Given the description of an element on the screen output the (x, y) to click on. 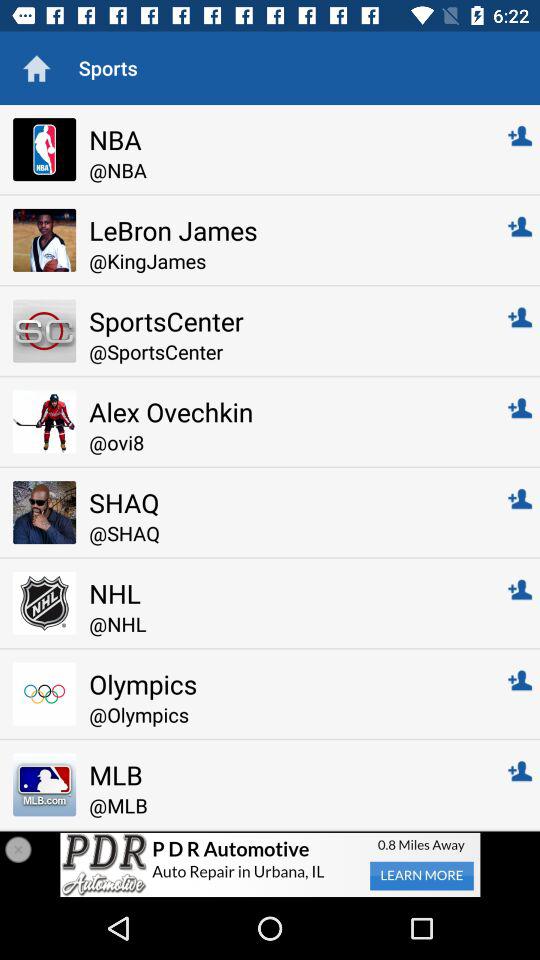
go to website for advertisement (270, 864)
